Given the description of an element on the screen output the (x, y) to click on. 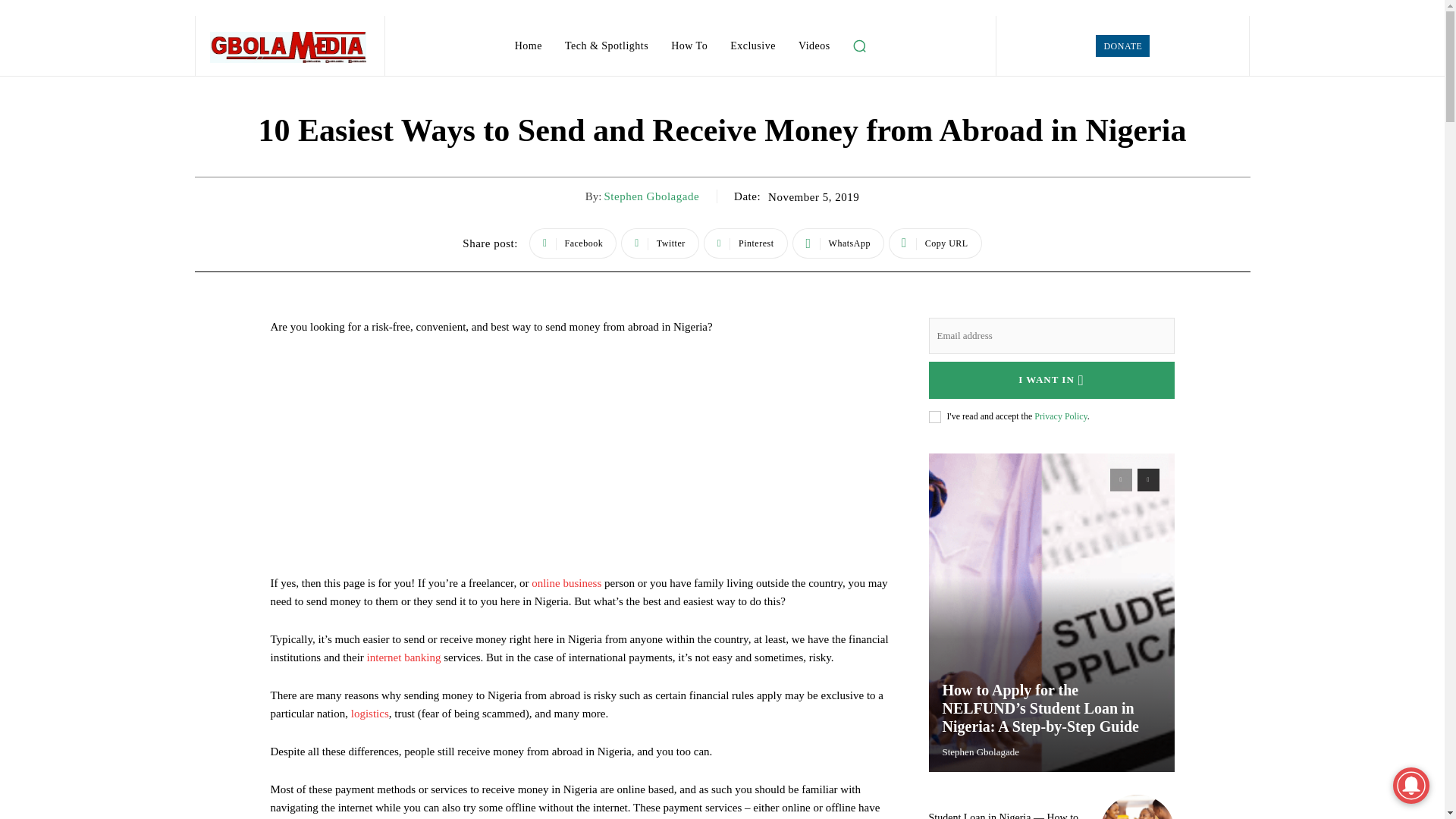
GbolaMedia (287, 47)
Donate (1123, 45)
Copy URL (934, 243)
Twitter (659, 243)
WhatsApp (837, 243)
Exclusive (752, 45)
Facebook (572, 243)
Pinterest (745, 243)
